Given the description of an element on the screen output the (x, y) to click on. 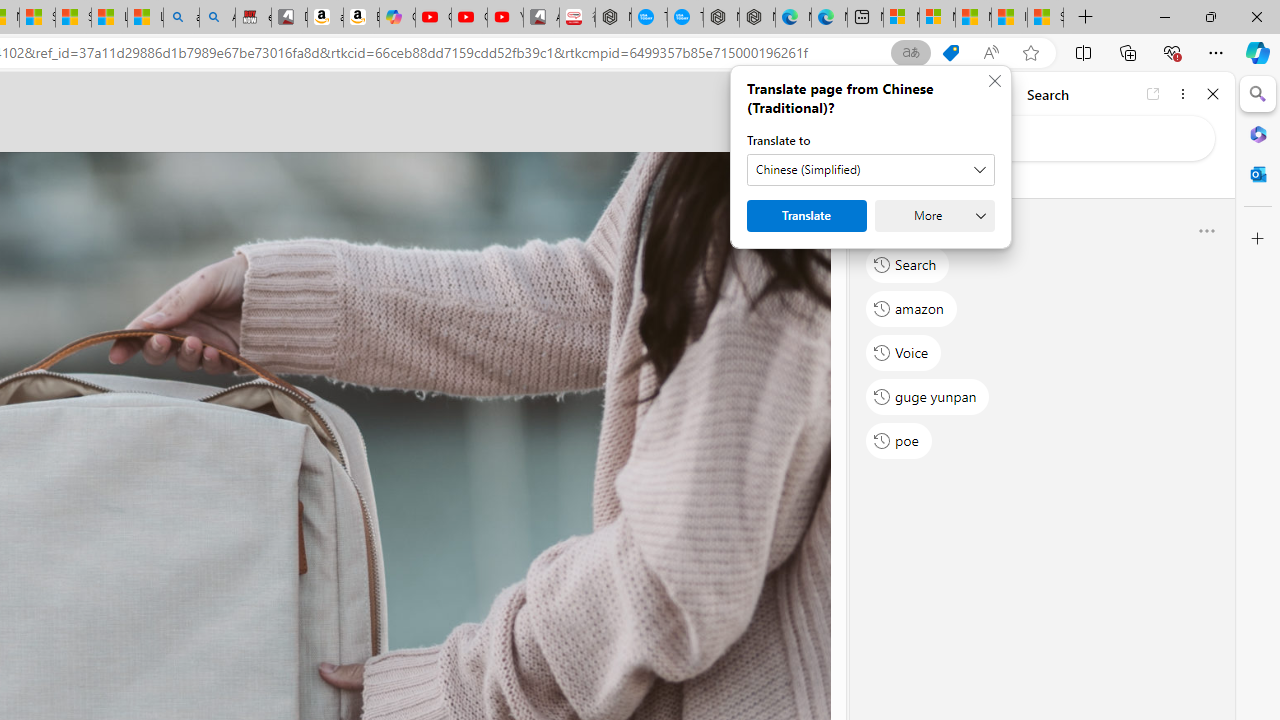
Amazon Echo Dot PNG - Search Images (217, 17)
amazon - Search (180, 17)
This site has coupons! Shopping in Microsoft Edge (950, 53)
Translate (806, 215)
Open link in new tab (1153, 93)
More (934, 215)
Forward (906, 93)
amazon.in/dp/B0CX59H5W7/?tag=gsmcom05-21 (325, 17)
Gloom - YouTube (469, 17)
